Given the description of an element on the screen output the (x, y) to click on. 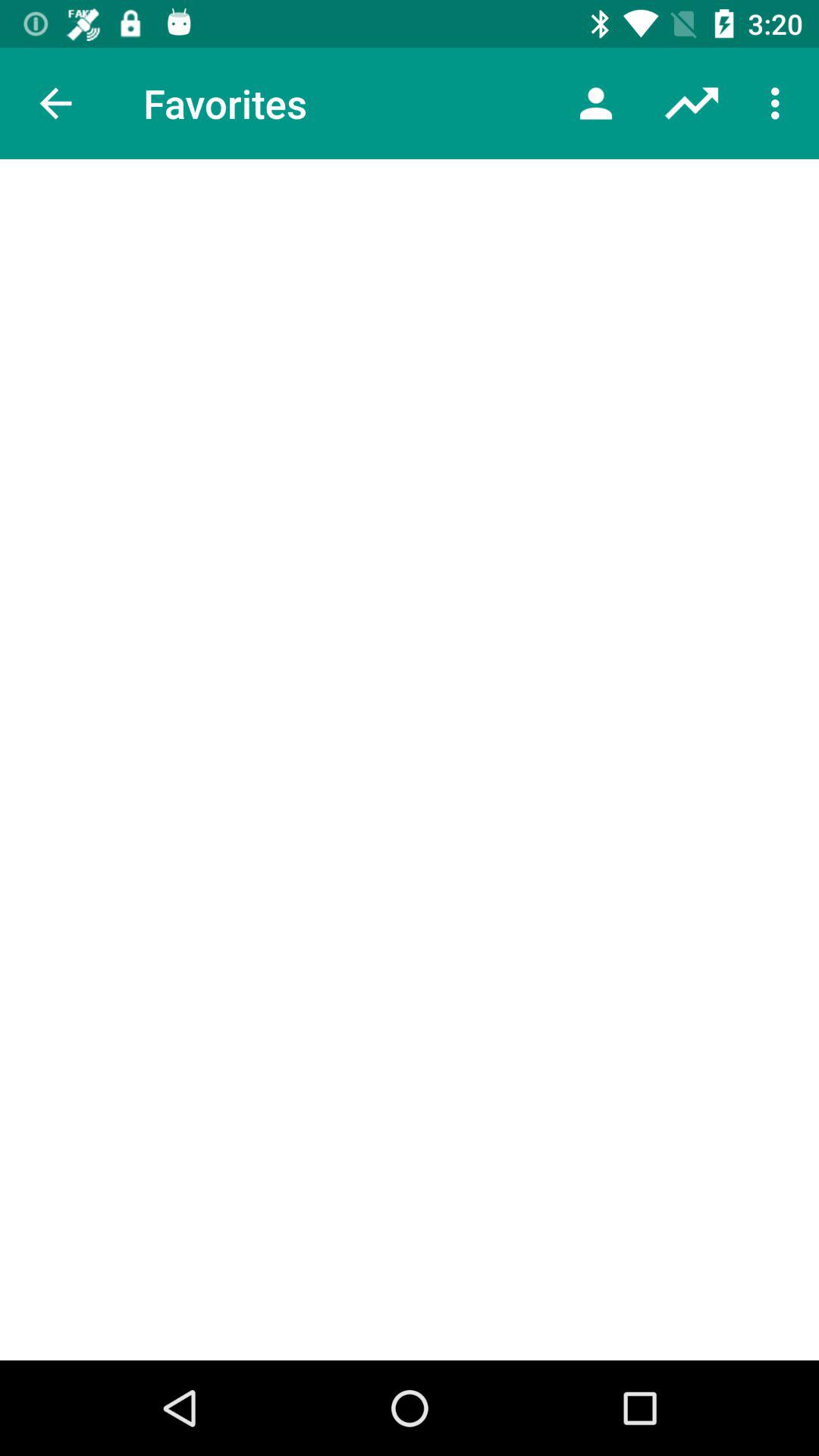
tap the icon next to the favorites (595, 103)
